Given the description of an element on the screen output the (x, y) to click on. 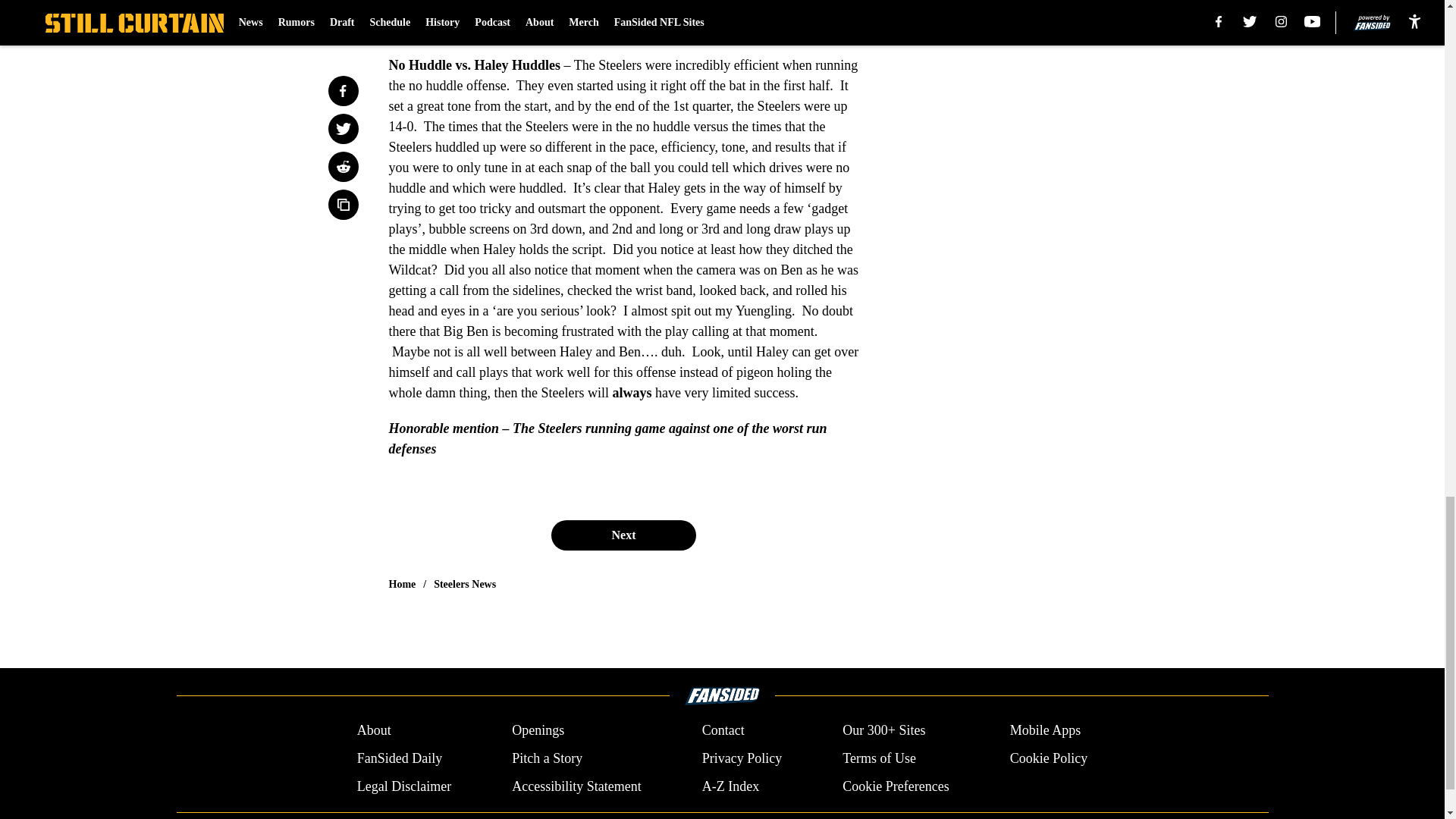
About (373, 730)
Next (622, 535)
Home (401, 584)
Mobile Apps (1045, 730)
Contact (722, 730)
Openings (538, 730)
FanSided Daily (399, 758)
Pitch a Story (547, 758)
Steelers News (464, 584)
